Given the description of an element on the screen output the (x, y) to click on. 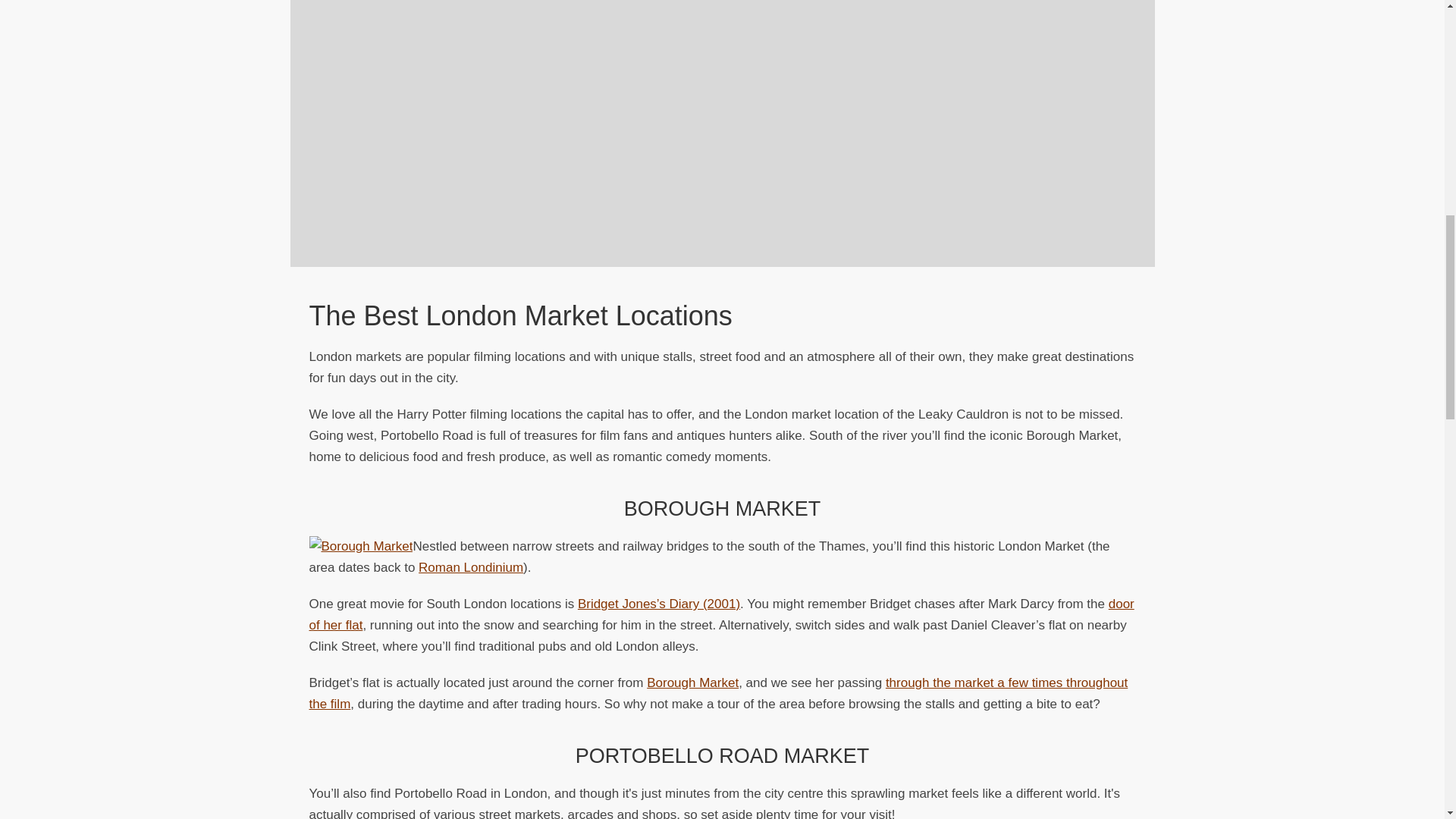
Roman Londinium (470, 567)
Borough Market (692, 682)
door of her flat (721, 614)
through the market a few times throughout the film (718, 693)
